Given the description of an element on the screen output the (x, y) to click on. 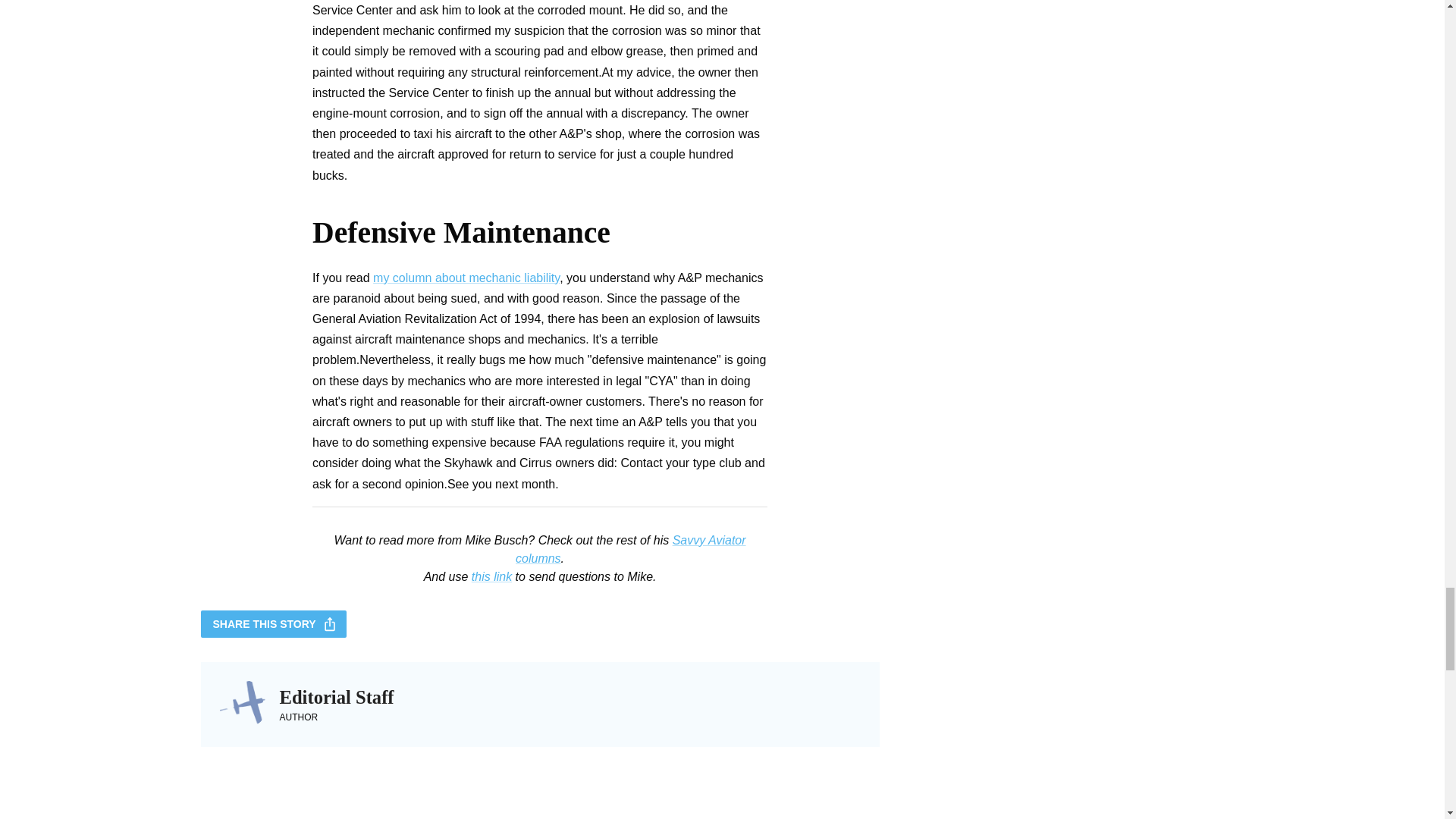
Editorial Staff (336, 697)
this link (491, 576)
Savvy Aviator columns (630, 549)
my column about mechanic liability (465, 277)
SHARE THIS STORY (273, 624)
